Given the description of an element on the screen output the (x, y) to click on. 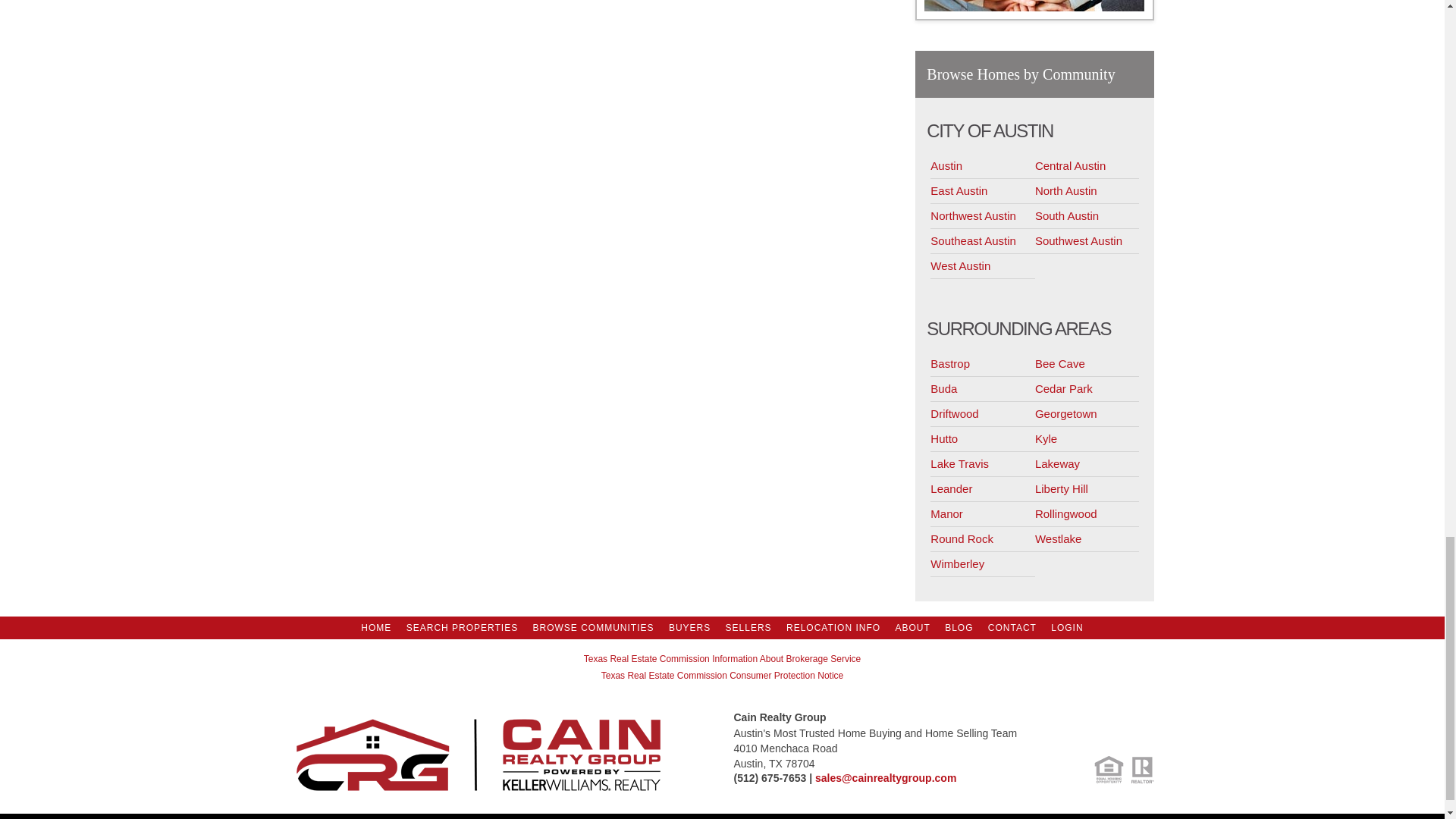
View Austin (982, 166)
View Bastrop (982, 364)
View North Austin (1087, 191)
View Southeast Austin (982, 241)
View Southwest Austin (1087, 241)
View South Austin (1087, 216)
View East Austin (982, 191)
View Northwest Austin (982, 216)
View Bee Cave (1087, 364)
View West Austin (982, 266)
View Central Austin (1087, 166)
